Given the description of an element on the screen output the (x, y) to click on. 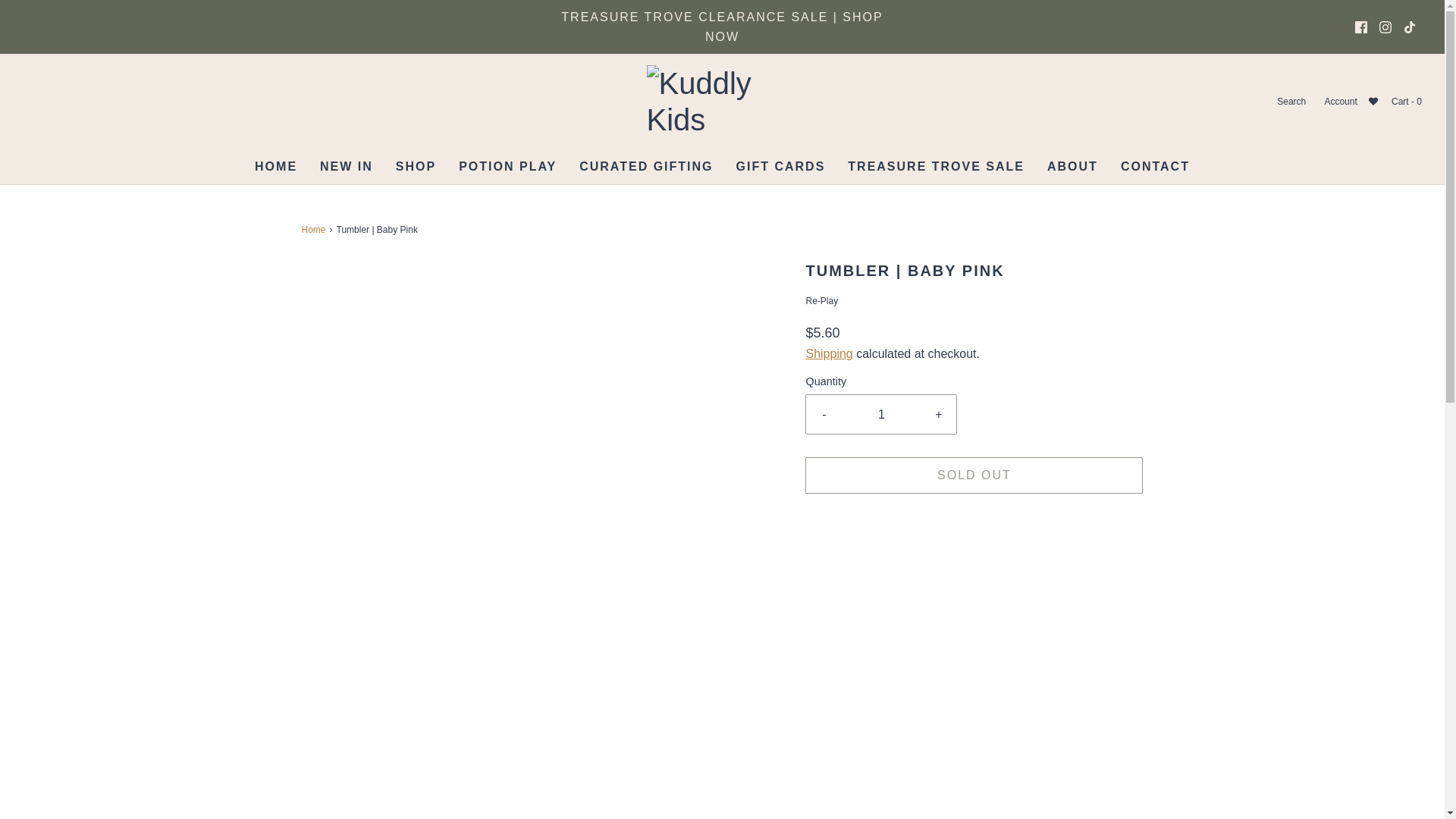
Back to the frontpage (315, 229)
TIKTOK ICON (1409, 27)
FACEBOOK ICON (1361, 27)
INSTAGRAM ICON (1385, 27)
Search (1289, 101)
NEW IN (346, 166)
Log in (1339, 101)
Cart (1405, 101)
Cart - 0 (1405, 101)
Account (1339, 101)
1 (881, 414)
SHOP (415, 166)
FACEBOOK ICON (1361, 27)
HOME (275, 166)
INSTAGRAM ICON (1384, 27)
